Given the description of an element on the screen output the (x, y) to click on. 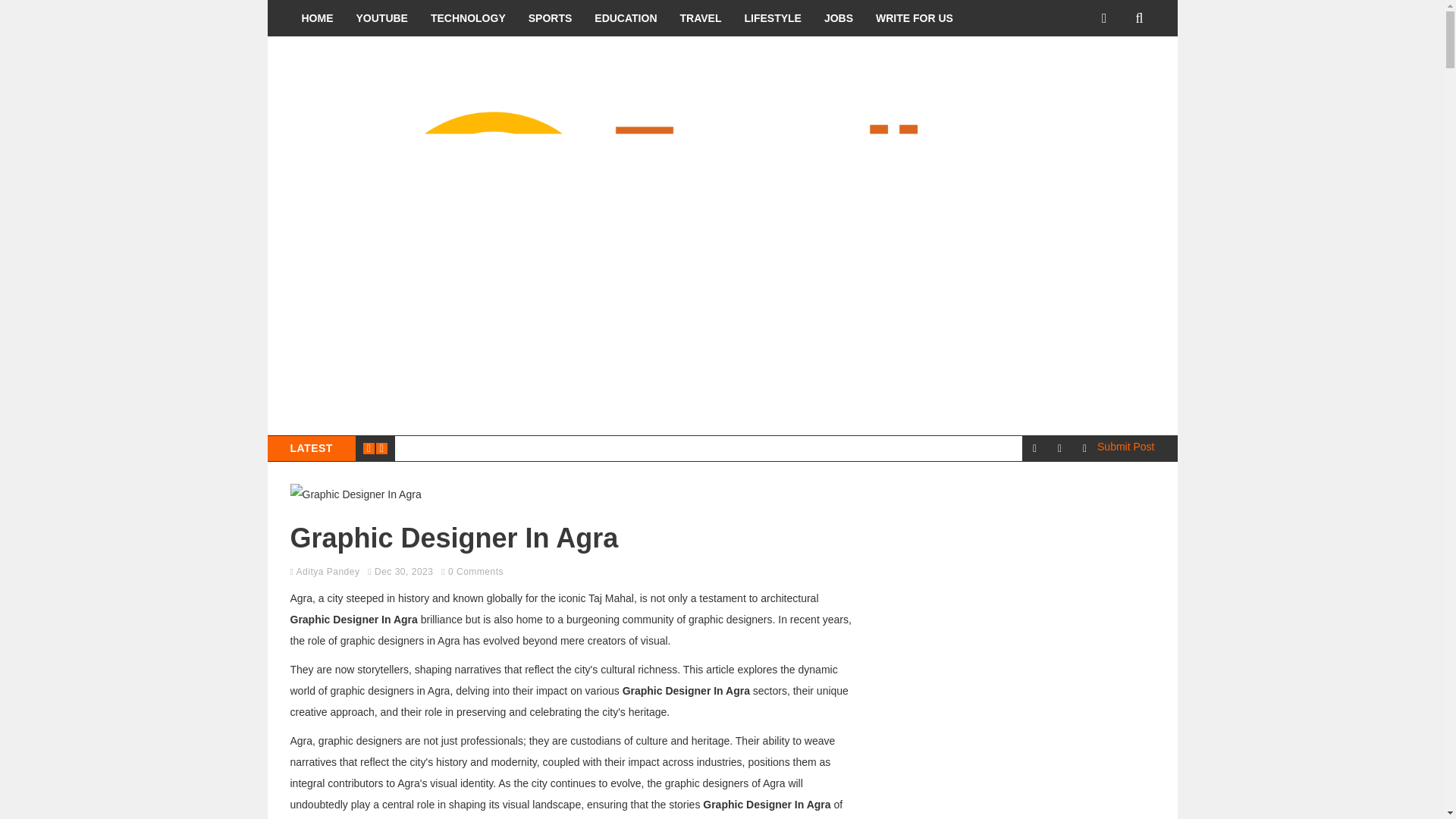
TECHNOLOGY (467, 18)
EDUCATION (625, 18)
Submit Post (1125, 446)
Aditya Pandey (328, 571)
YOUTUBE (381, 18)
LIFESTYLE (772, 18)
SPORTS (549, 18)
TRAVEL (700, 18)
WRITE FOR US (913, 18)
0 Comments (475, 571)
HOME (316, 18)
JOBS (838, 18)
